Given the description of an element on the screen output the (x, y) to click on. 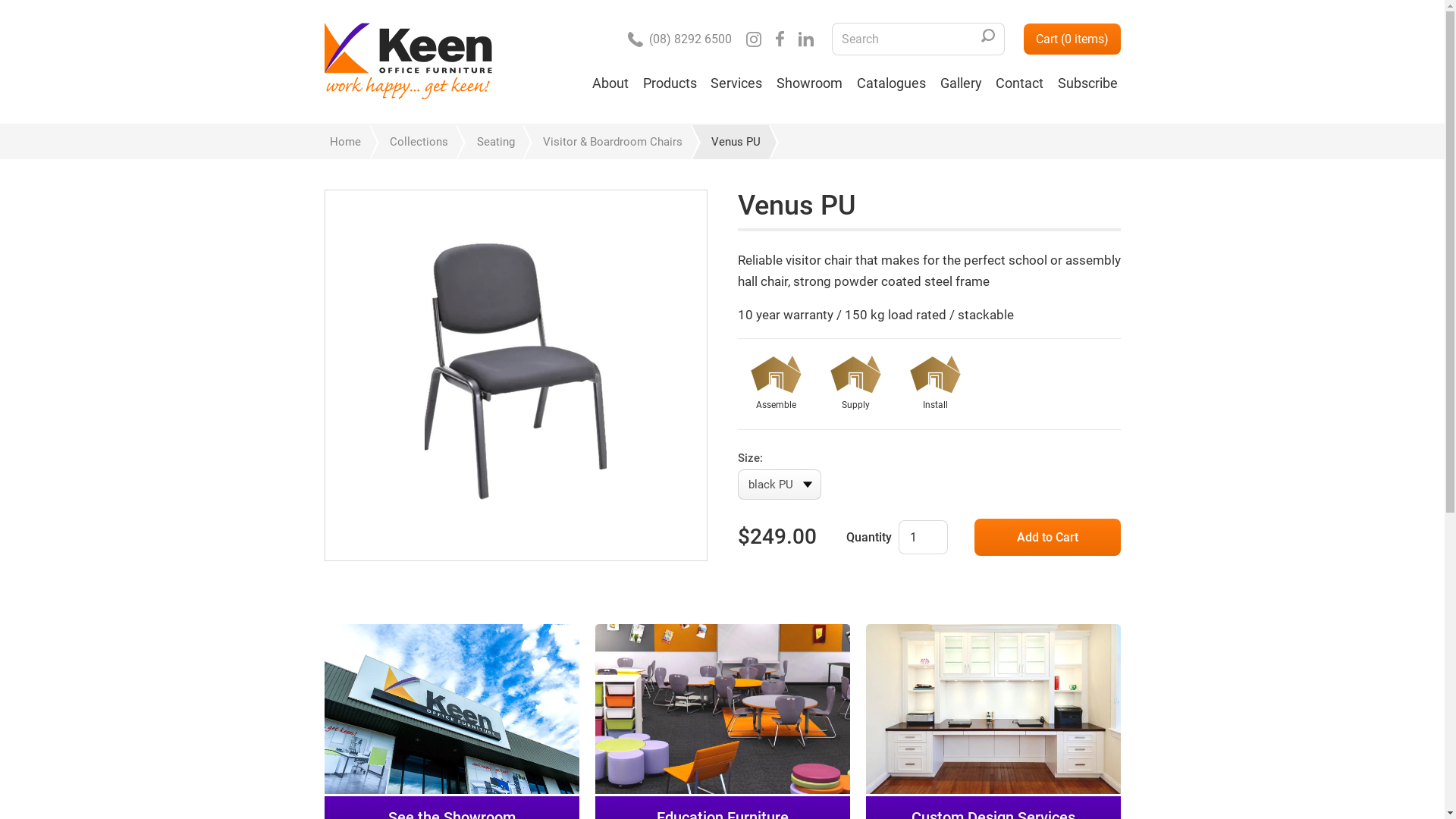
Products Element type: text (669, 89)
Seating Element type: text (488, 142)
Home Element type: text (345, 142)
About Element type: text (610, 89)
Services Element type: text (736, 89)
Assemble Element type: text (775, 385)
Subscribe Element type: text (1087, 89)
Gallery Element type: text (960, 89)
  (08) 8292 6500 Element type: text (679, 38)
Showroom Element type: text (809, 89)
Cart (0 items) Element type: text (1071, 39)
Collections Element type: text (412, 142)
Install Element type: text (934, 385)
Supply Element type: text (855, 385)
Visitor & Boardroom Chairs Element type: text (605, 142)
Catalogues Element type: text (890, 89)
Add to Cart Element type: text (1046, 537)
Contact Element type: text (1019, 89)
